Given the description of an element on the screen output the (x, y) to click on. 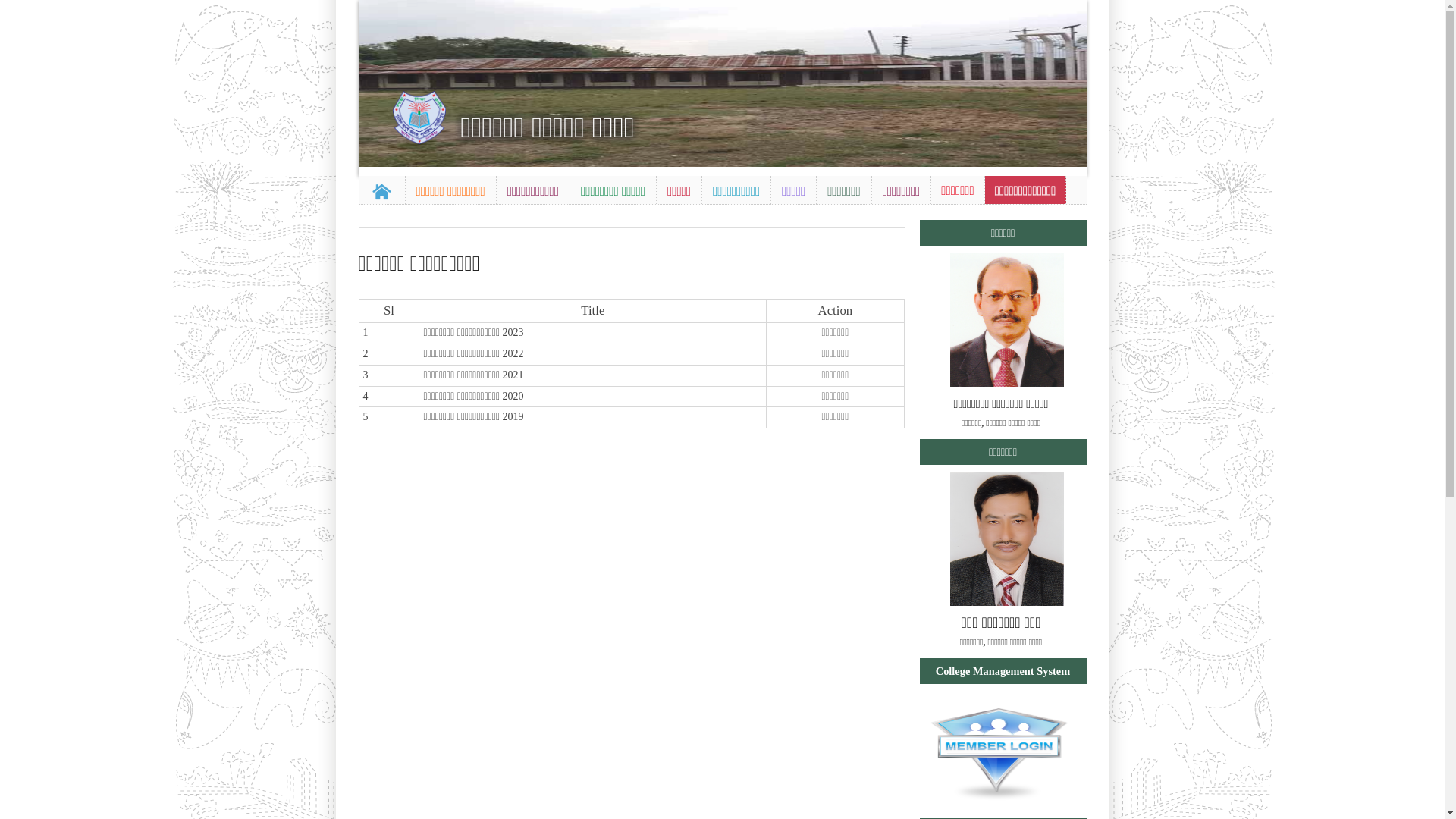
Next Element type: text (1071, 80)
Previous Element type: text (371, 80)
